Given the description of an element on the screen output the (x, y) to click on. 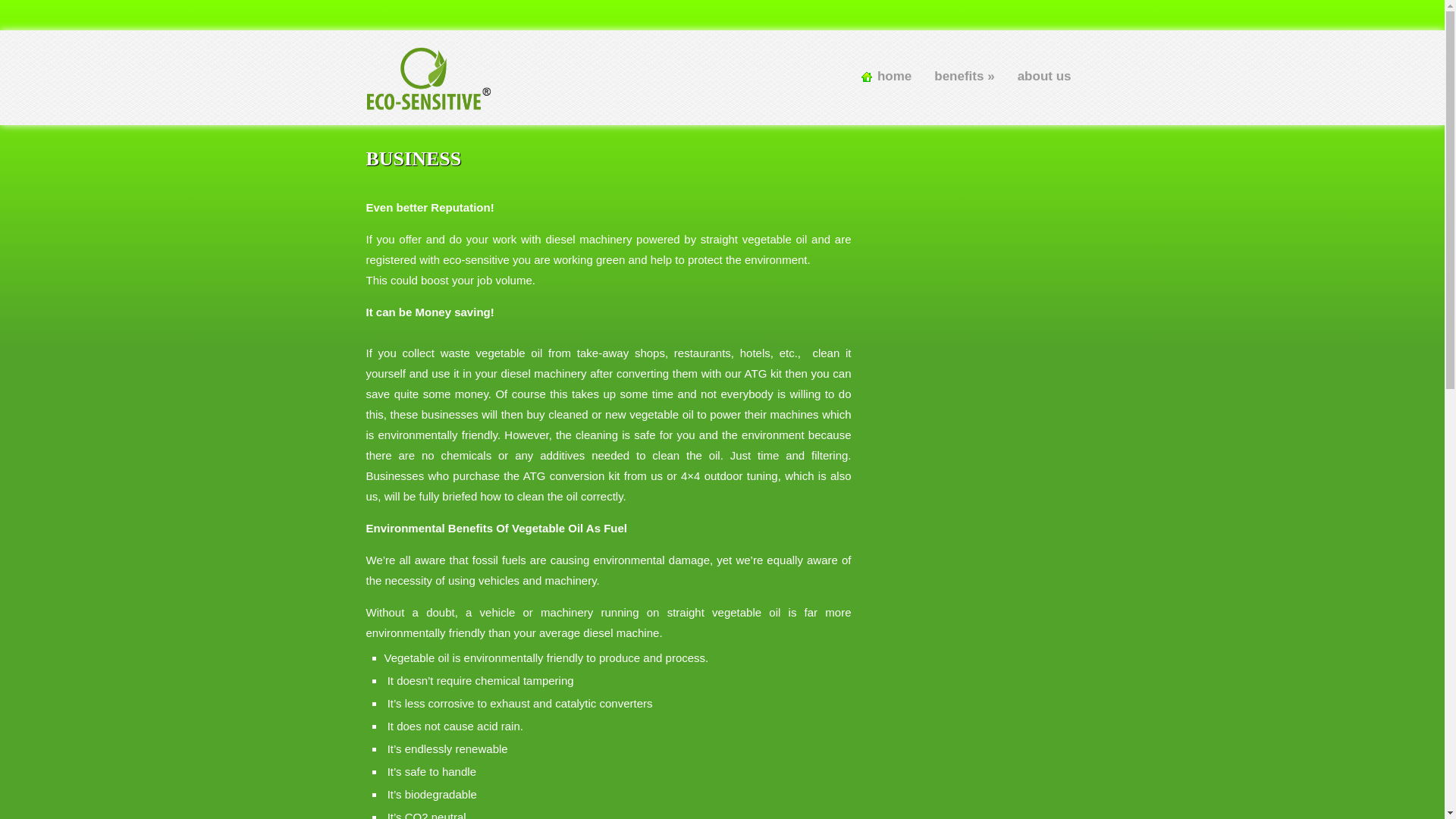
about us Element type: text (1040, 76)
BUSINESS Element type: text (413, 158)
home Element type: text (890, 76)
Eco-Sensitive Element type: hover (429, 103)
